Given the description of an element on the screen output the (x, y) to click on. 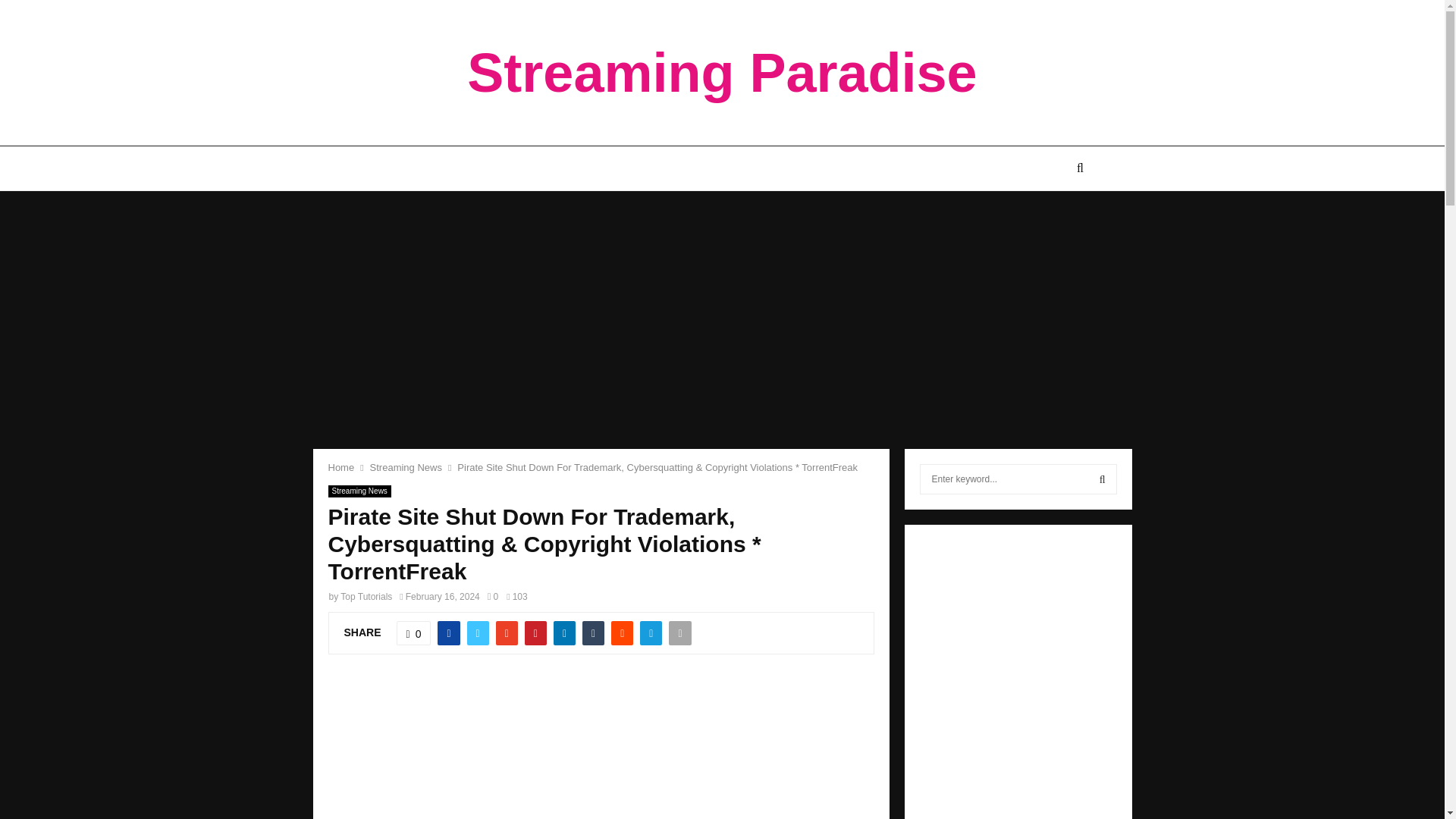
Top Tutorials (365, 596)
0 (413, 632)
HOME (377, 167)
Like (413, 632)
DEALS (868, 167)
Streaming Paradise (721, 72)
Home (340, 467)
VOTING ZONE (791, 167)
STREAMING NEWS (595, 167)
Streaming News (358, 491)
Streaming News (405, 467)
0 (492, 596)
EMULATORS (699, 167)
STREAMING GUIDES (468, 167)
